Given the description of an element on the screen output the (x, y) to click on. 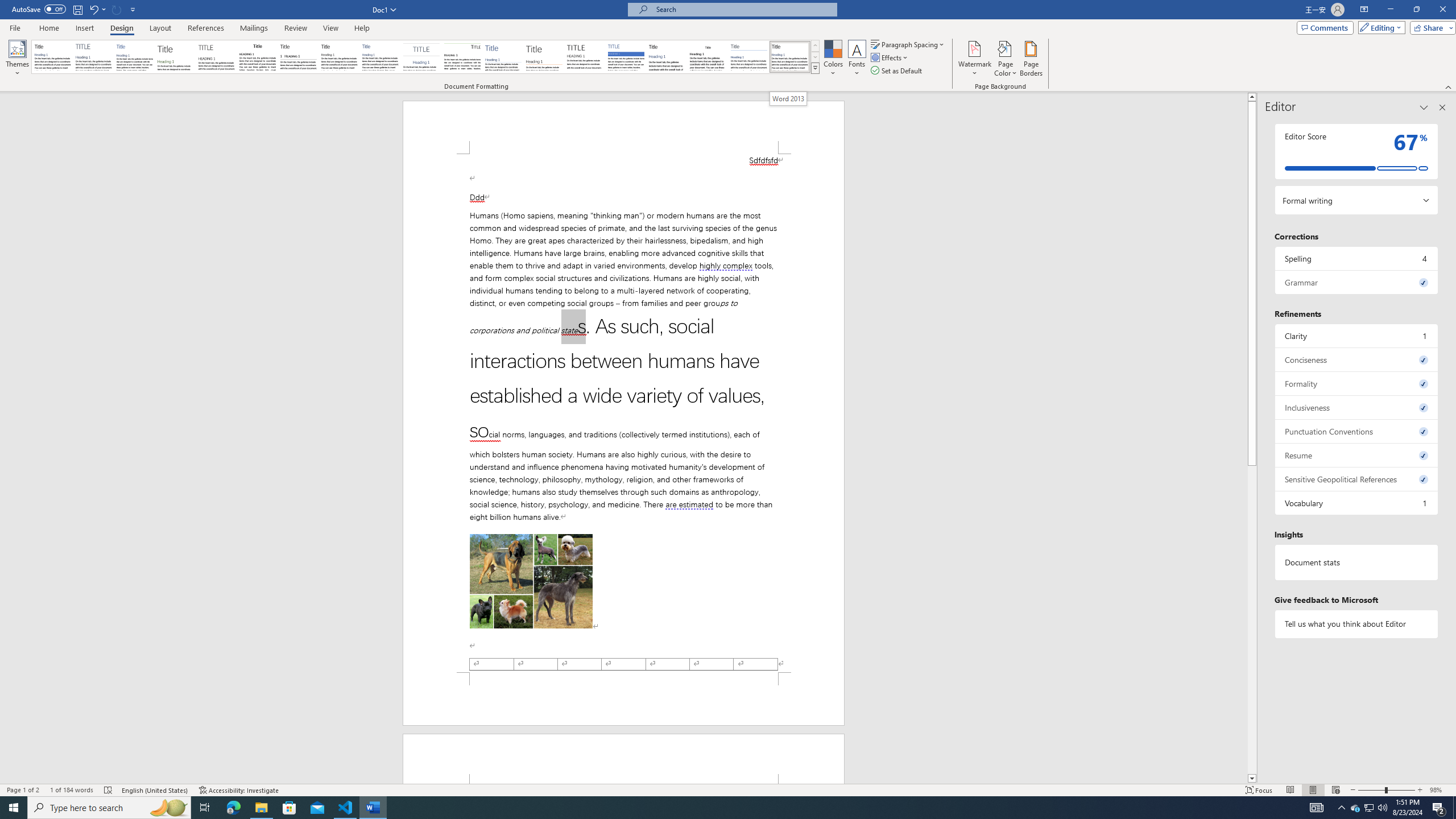
Word 2010 (749, 56)
Resume, 0 issues. Press space or enter to review items. (1356, 454)
Word 2013 (788, 98)
Conciseness, 0 issues. Press space or enter to review items. (1356, 359)
Tell us what you think about Editor (1356, 624)
Class: NetUIScrollBar (1251, 437)
Accessibility Checker Accessibility: Investigate (239, 790)
Basic (Stylish) (175, 56)
